Given the description of an element on the screen output the (x, y) to click on. 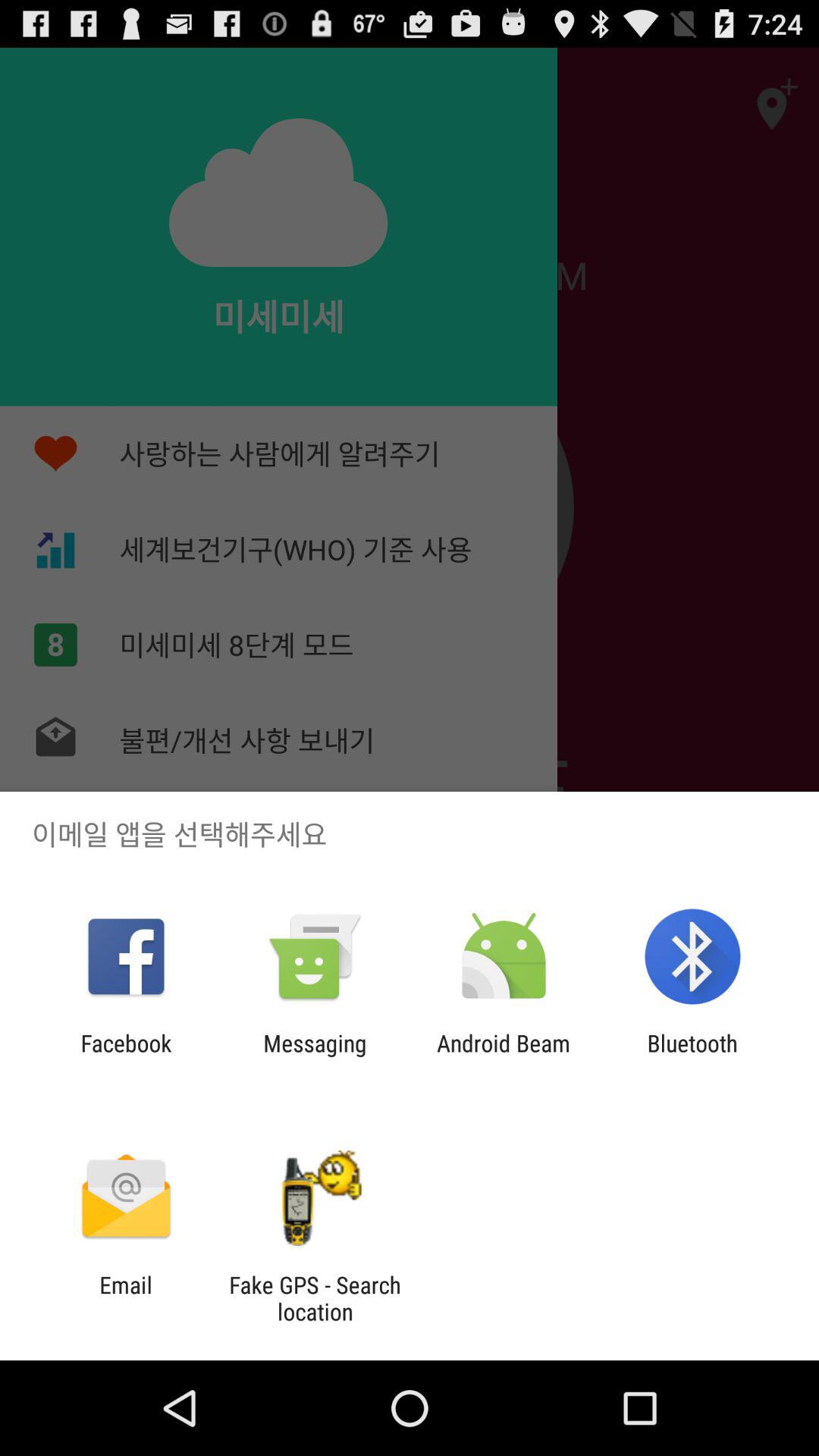
press app at the bottom right corner (692, 1056)
